Given the description of an element on the screen output the (x, y) to click on. 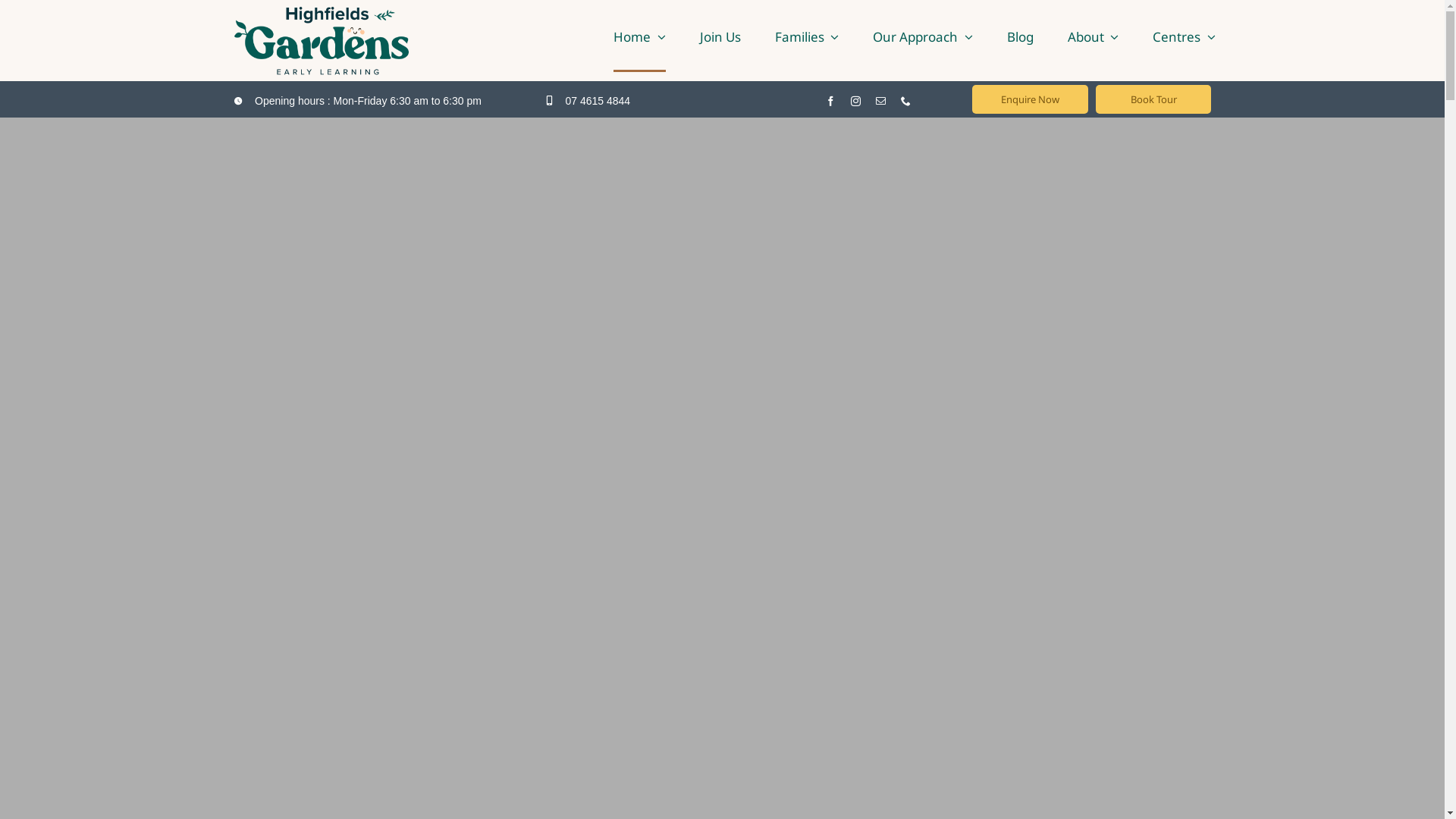
Enquire Now Element type: text (1030, 98)
Our Approach Element type: text (922, 36)
Families Element type: text (807, 36)
Blog Element type: text (1020, 36)
About Element type: text (1093, 36)
Join Us Element type: text (719, 36)
Centres Element type: text (1183, 36)
Home Element type: text (639, 36)
07 4615 4844 Element type: text (597, 100)
Book Tour Element type: text (1153, 98)
